Given the description of an element on the screen output the (x, y) to click on. 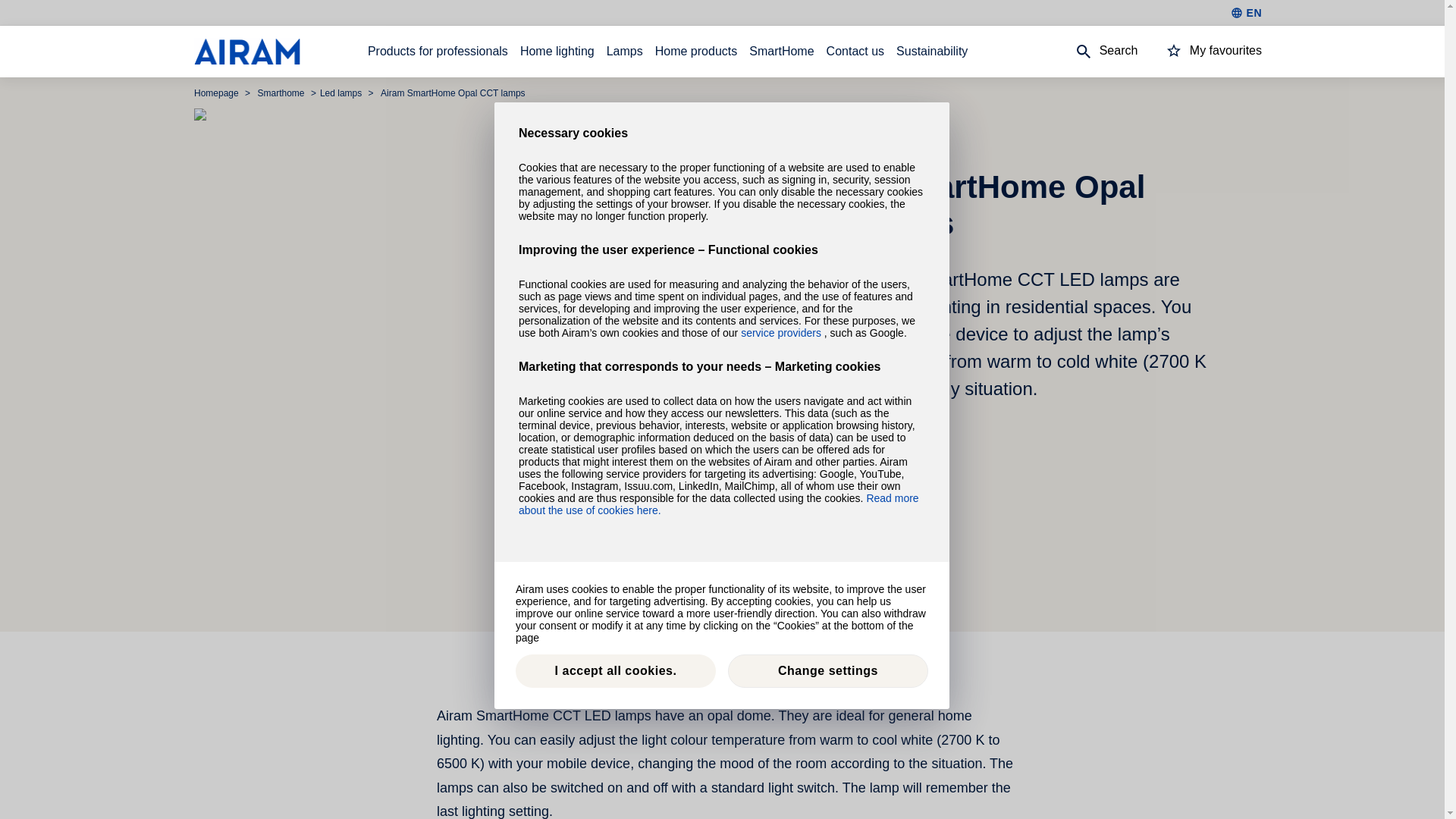
My favourites (1199, 50)
Products for professionals (438, 51)
My favourites (1199, 51)
Homepage (217, 92)
Search (1091, 51)
Search (1091, 51)
SmartHome (781, 51)
Home lighting (556, 51)
Sustainability (932, 51)
EN (1246, 12)
